Given the description of an element on the screen output the (x, y) to click on. 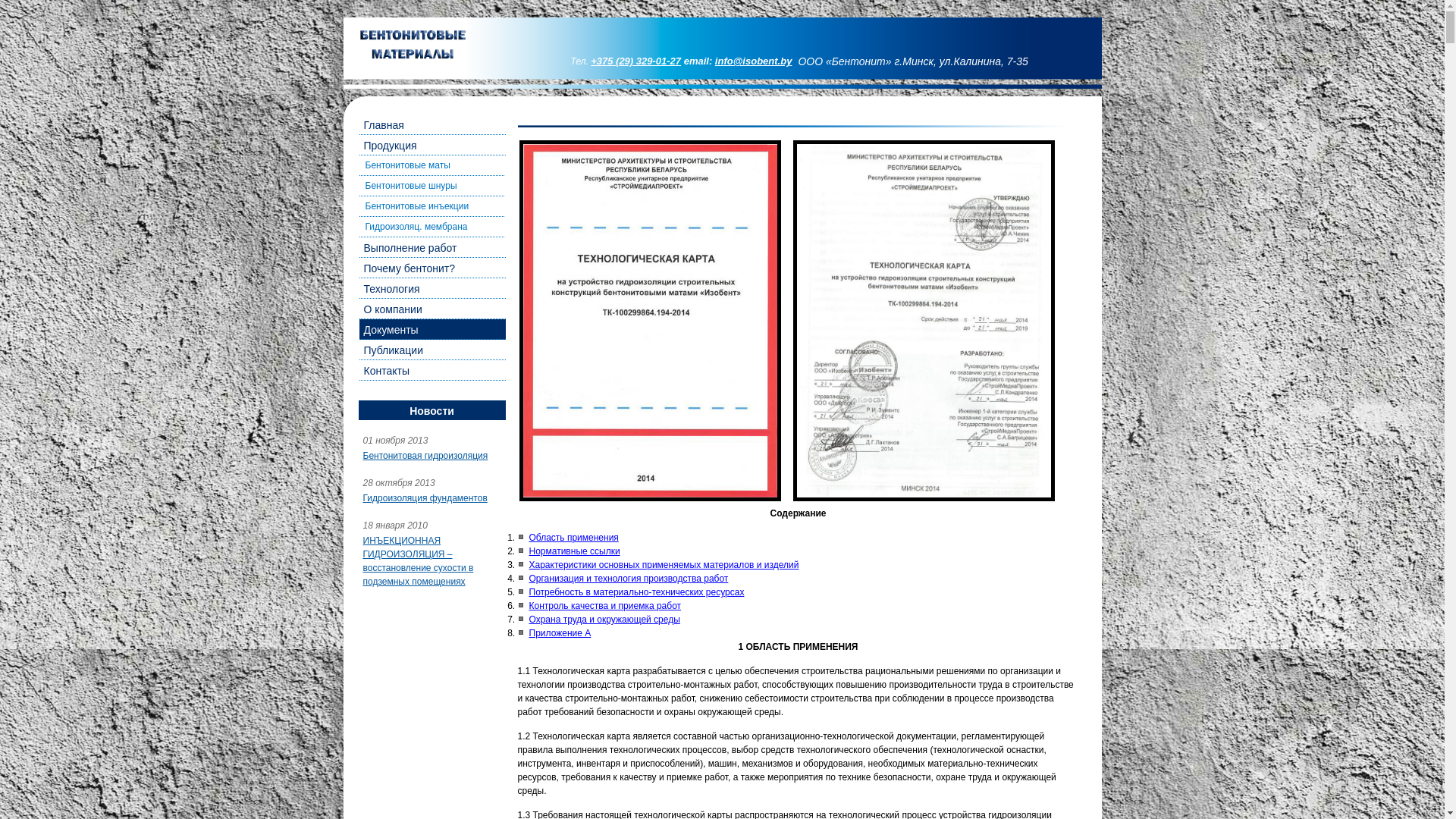
info@isobent.by Element type: text (753, 60)
+375 (29) 329-01-27 Element type: text (635, 60)
